Given the description of an element on the screen output the (x, y) to click on. 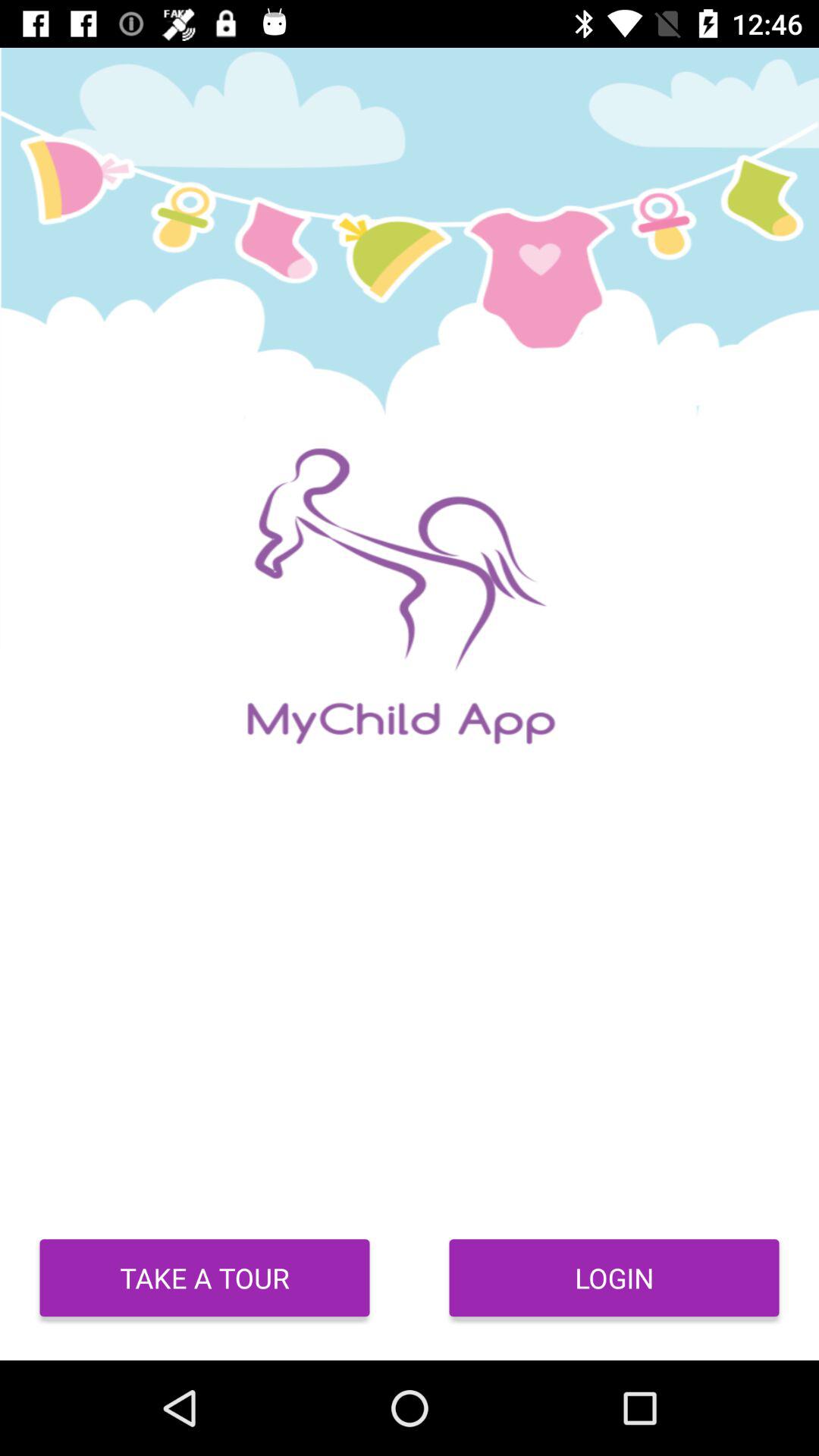
choose the icon next to the take a tour icon (614, 1277)
